Given the description of an element on the screen output the (x, y) to click on. 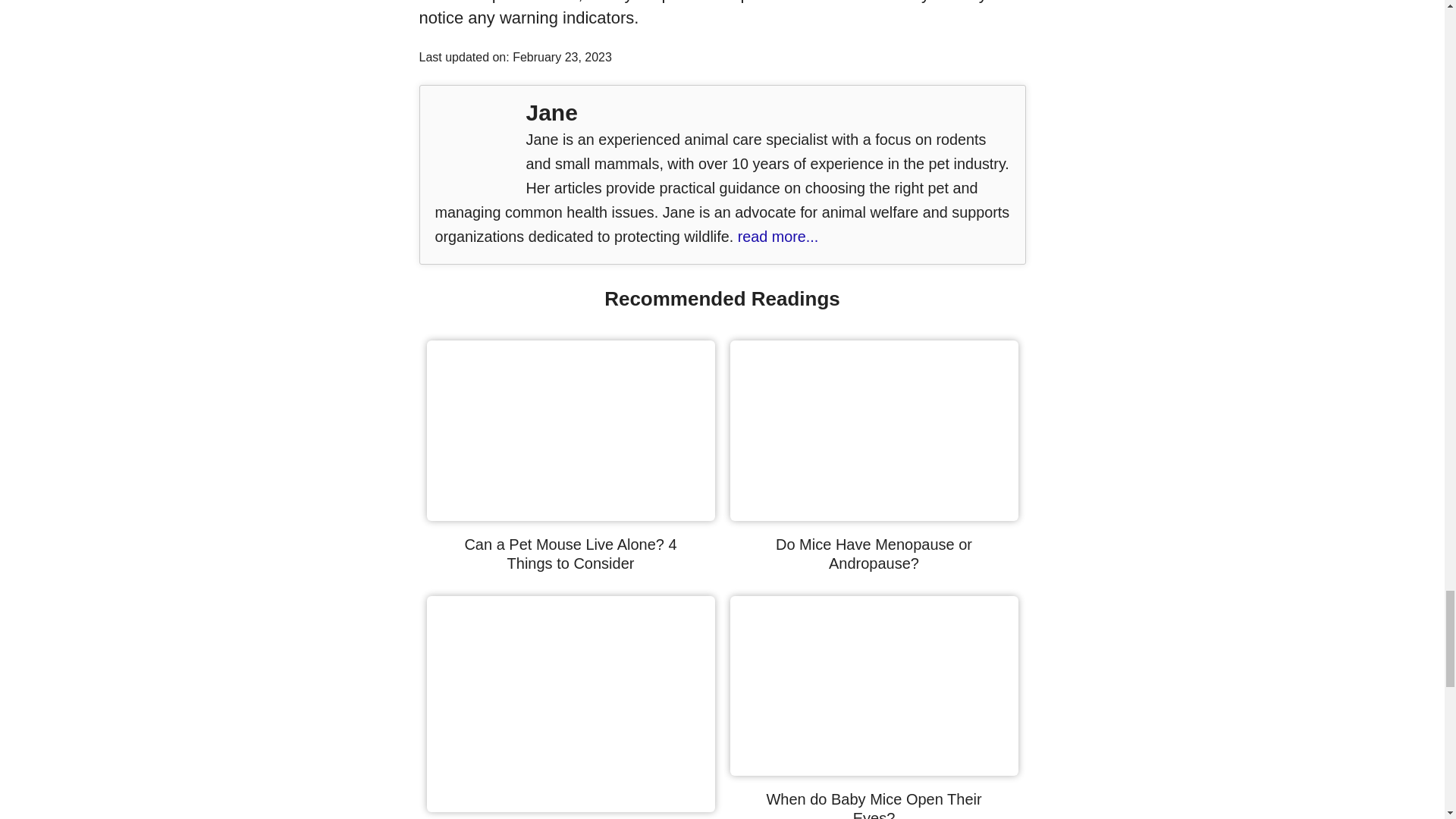
Can a Pet Mouse Live Alone? 4 Things to Consider (570, 552)
Can a Pet Mouse Live Alone? 4 Things to Consider (570, 514)
When do Baby Mice Open Their Eyes? (873, 769)
When do Baby Mice Open Their Eyes? (873, 805)
Do Mice Have Menopause or Andropause? (873, 514)
Do Mice Have Menopause or Andropause? (874, 552)
